Given the description of an element on the screen output the (x, y) to click on. 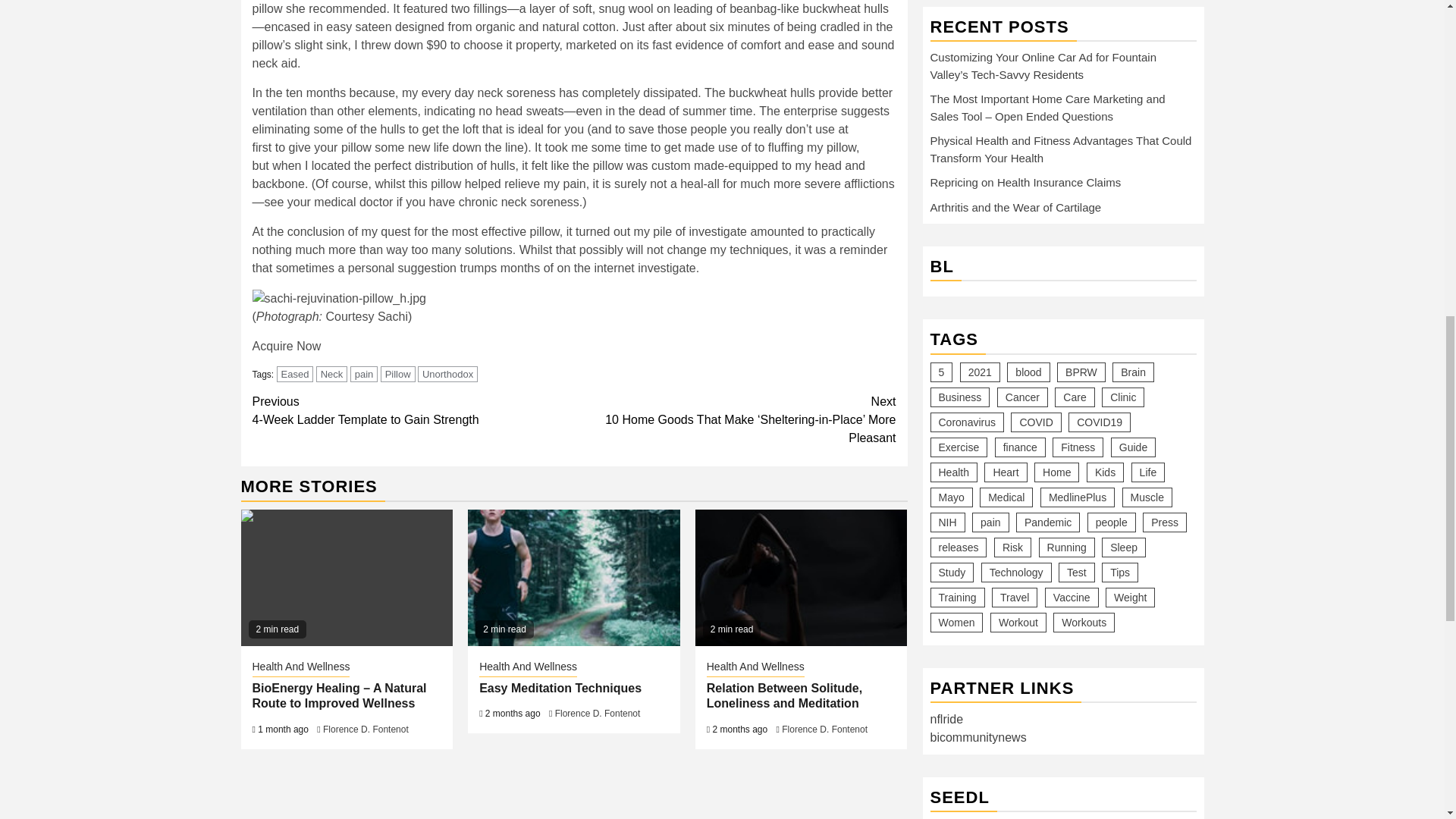
pain (364, 374)
Pillow (397, 374)
Health And Wellness (300, 668)
Florence D. Fontenot (597, 713)
Neck (331, 374)
Easy Meditation Techniques (560, 687)
Health And Wellness (527, 668)
Health And Wellness (412, 411)
Florence D. Fontenot (755, 668)
